Given the description of an element on the screen output the (x, y) to click on. 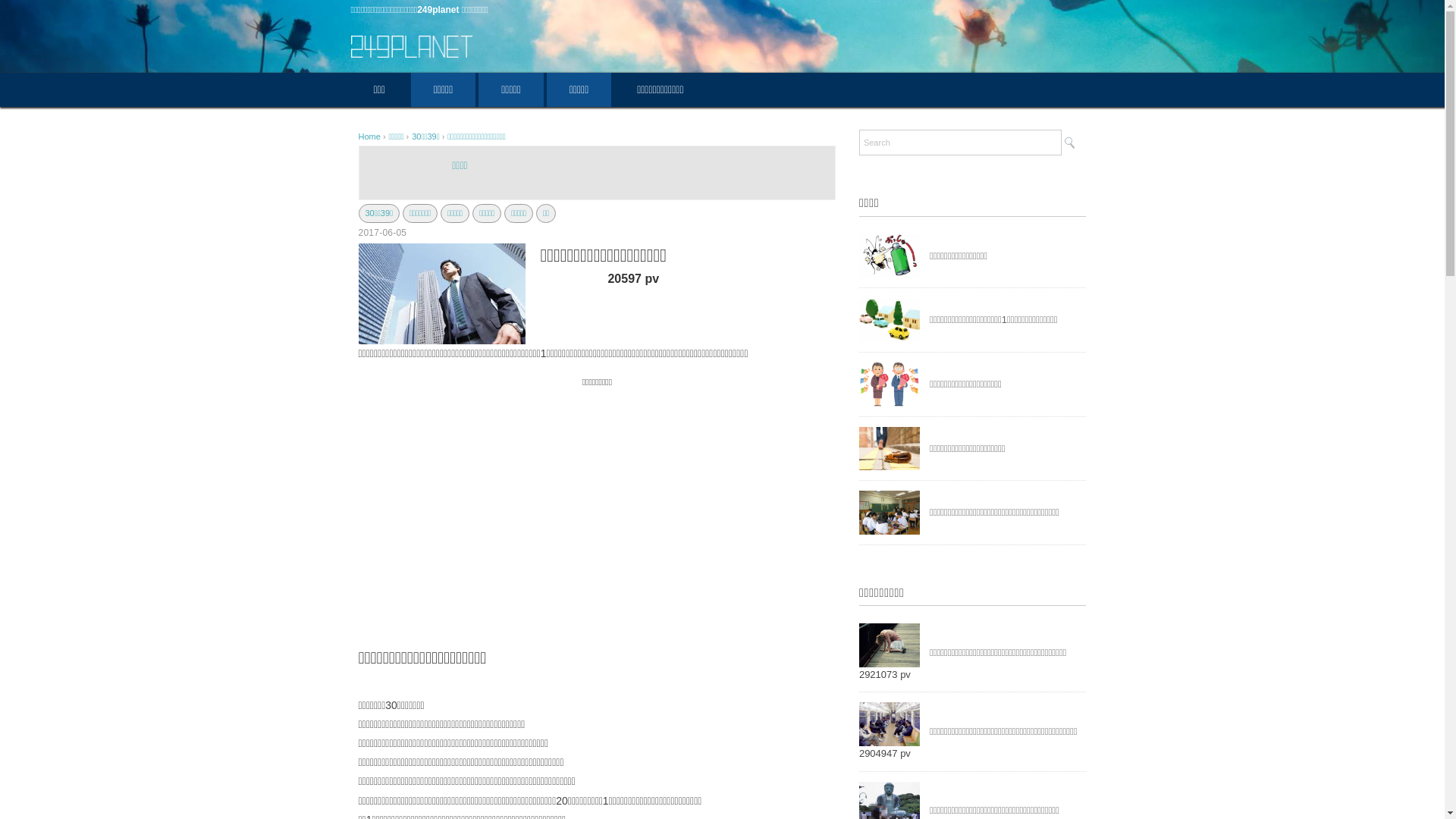
Advertisement Element type: hover (596, 497)
Home Element type: text (369, 136)
